Given the description of an element on the screen output the (x, y) to click on. 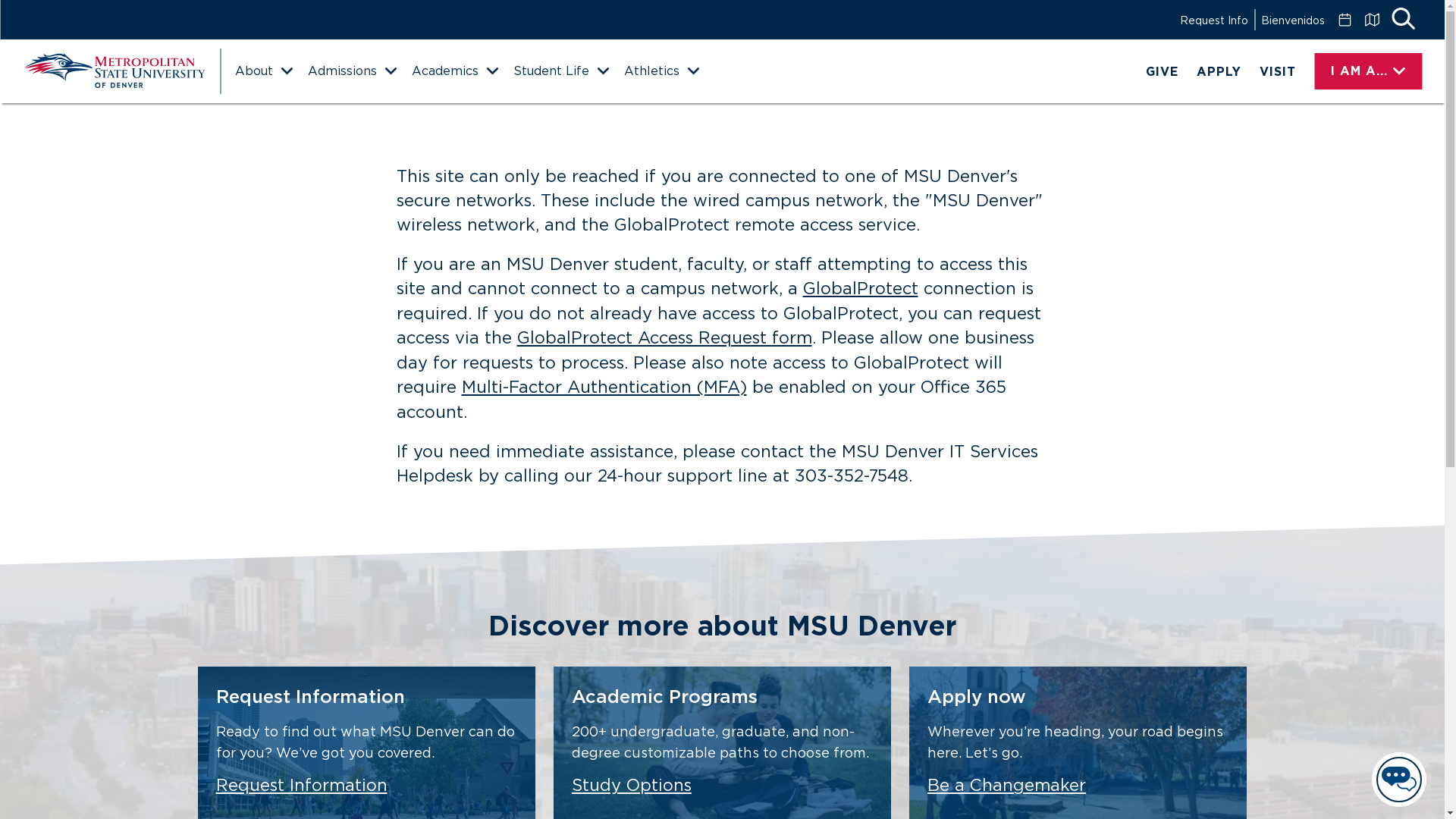
About (263, 71)
Map (1371, 19)
Bienvenidos (1292, 20)
Request Info (1213, 20)
Calendar (1344, 19)
Search (1403, 19)
MSU Denver (114, 70)
